Given the description of an element on the screen output the (x, y) to click on. 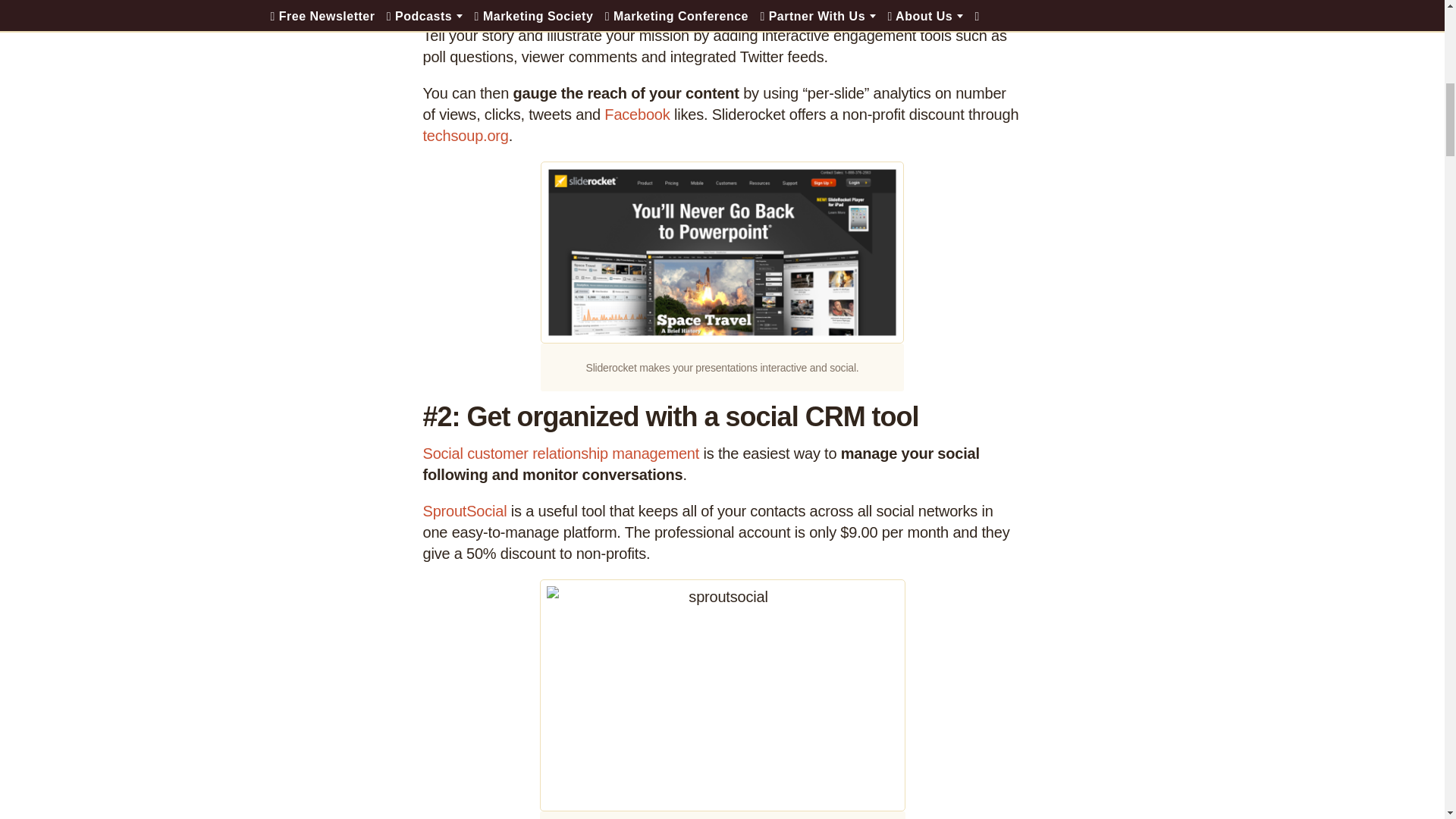
Facebook (636, 114)
Social customer relationship management (561, 453)
SproutSocial (464, 510)
techsoup.org (465, 135)
